Given the description of an element on the screen output the (x, y) to click on. 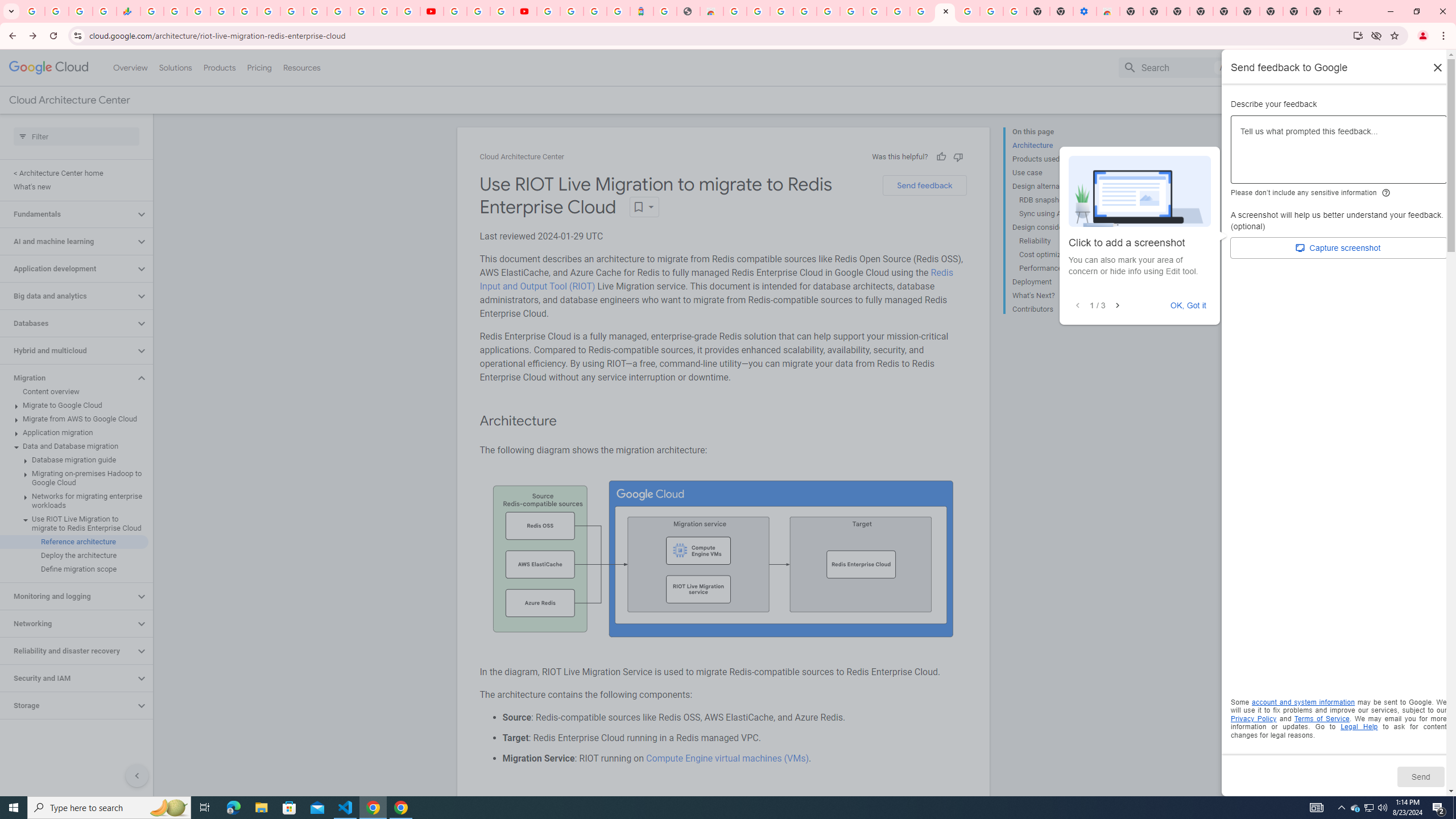
Describe your feedback (1338, 153)
Create your Google Account (897, 11)
Design considerations (1058, 227)
Solutions (175, 67)
Migration (67, 377)
Contact Us (1324, 100)
AI and machine learning (67, 241)
Hide side navigation (136, 775)
Opens in a new tab. Terms of Service (1321, 718)
